Given the description of an element on the screen output the (x, y) to click on. 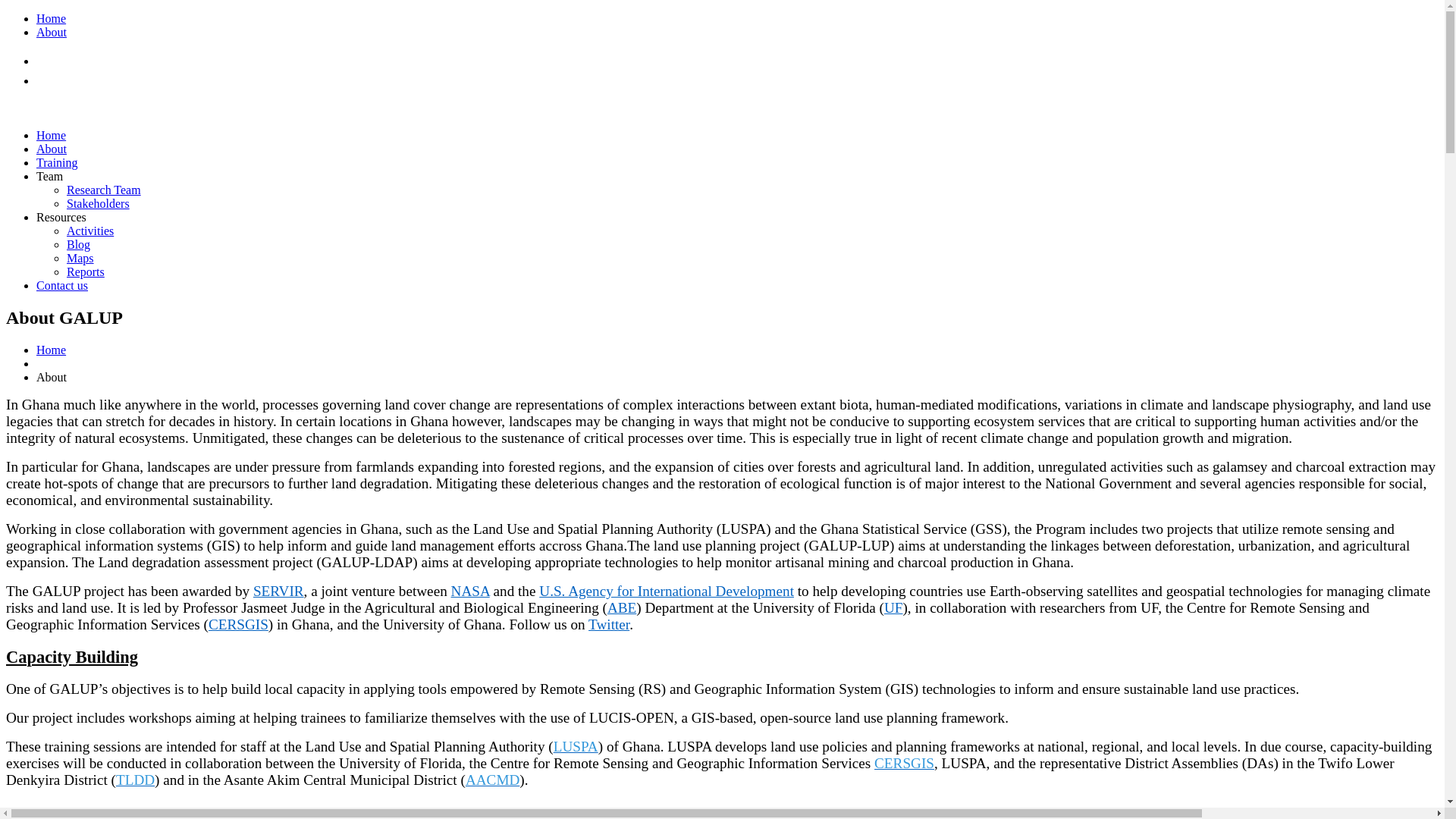
Stakeholders (97, 203)
Reports (85, 271)
Maps (80, 257)
U.S. Agency for International Development (665, 590)
About (51, 31)
Home (50, 134)
LUSPA (575, 746)
Resources (60, 216)
TLDD (135, 779)
UF (892, 607)
About (51, 148)
AACMD (492, 779)
CERSGIS (237, 624)
CERSGIS (904, 763)
Home (50, 349)
